Given the description of an element on the screen output the (x, y) to click on. 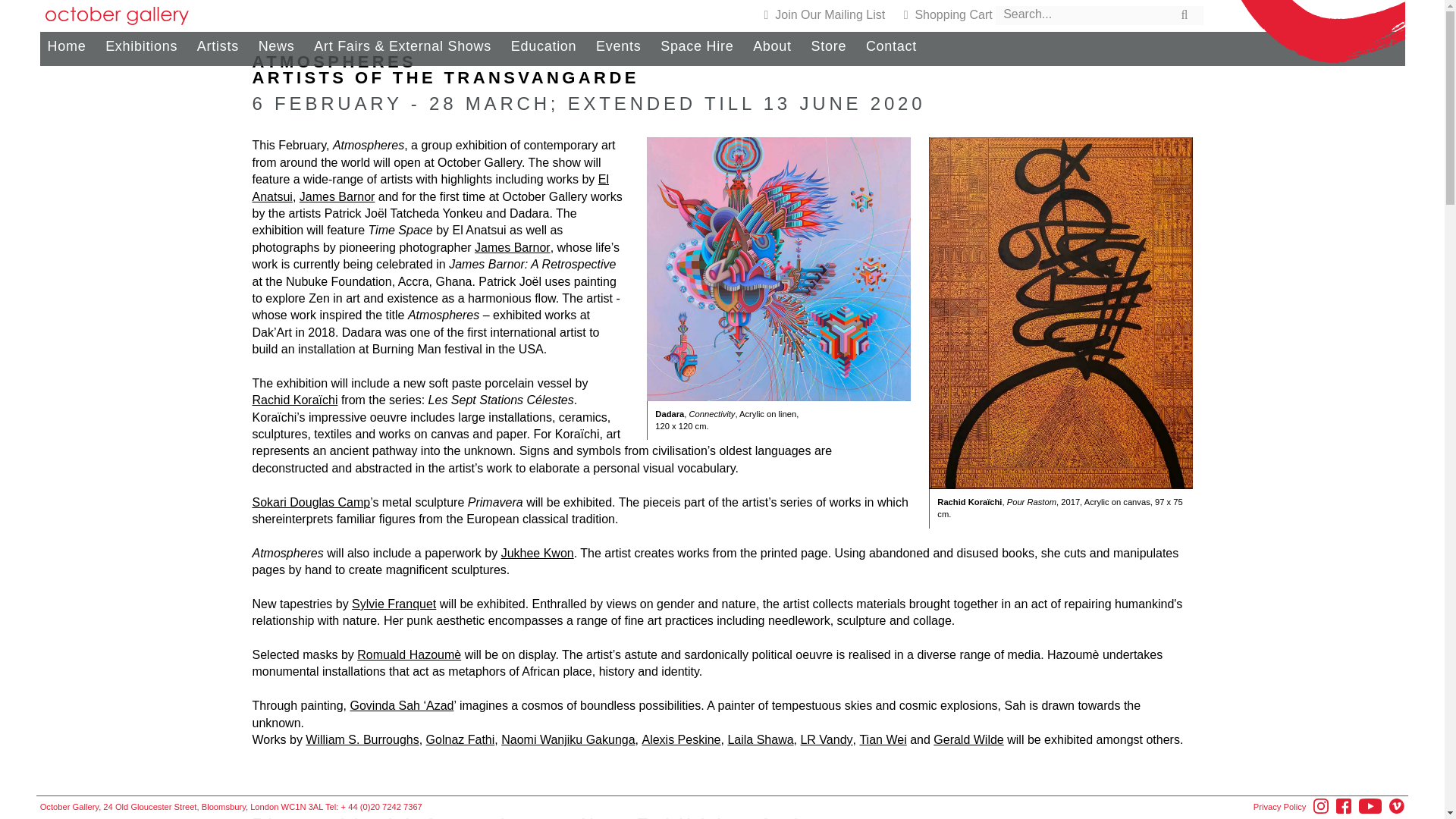
Naomi Wanjiku Gakunga (567, 739)
Jukhee Kwon (536, 553)
  Join Our Mailing List (824, 14)
Alexis Peskine (681, 739)
El Anatsui (429, 187)
Sokari Douglas Camp (310, 502)
Shopping Cart (824, 14)
Sylvie Franquet (393, 603)
Gerald Wilde (968, 739)
William S. Burroughs (362, 739)
LR Vandy (825, 739)
James Barnor (512, 246)
Tian Wei (882, 739)
Shopping Cart (948, 14)
Laila Shawa (759, 739)
